Given the description of an element on the screen output the (x, y) to click on. 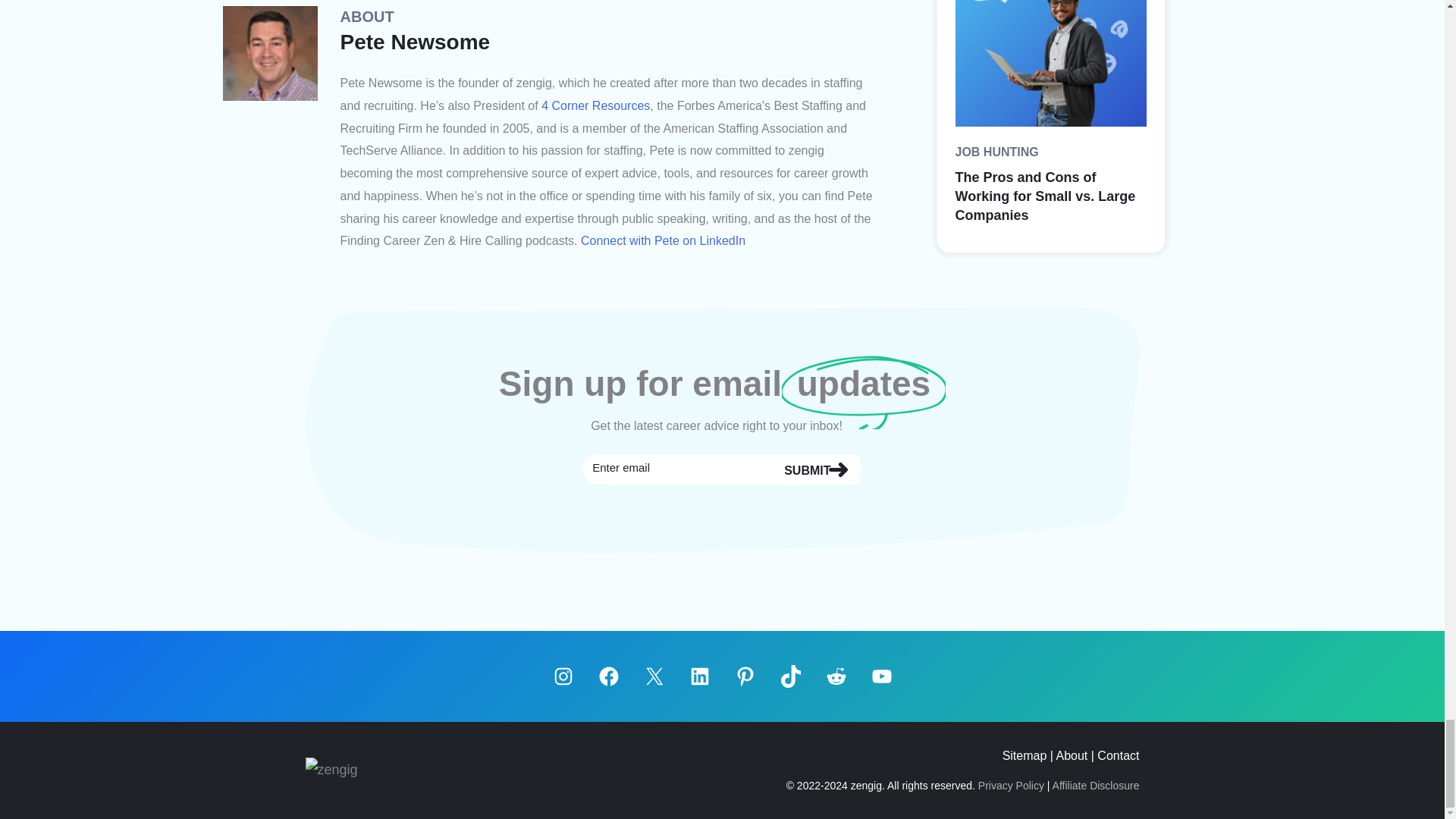
Posts by Pete Newsome (414, 42)
Submit (814, 469)
